Given the description of an element on the screen output the (x, y) to click on. 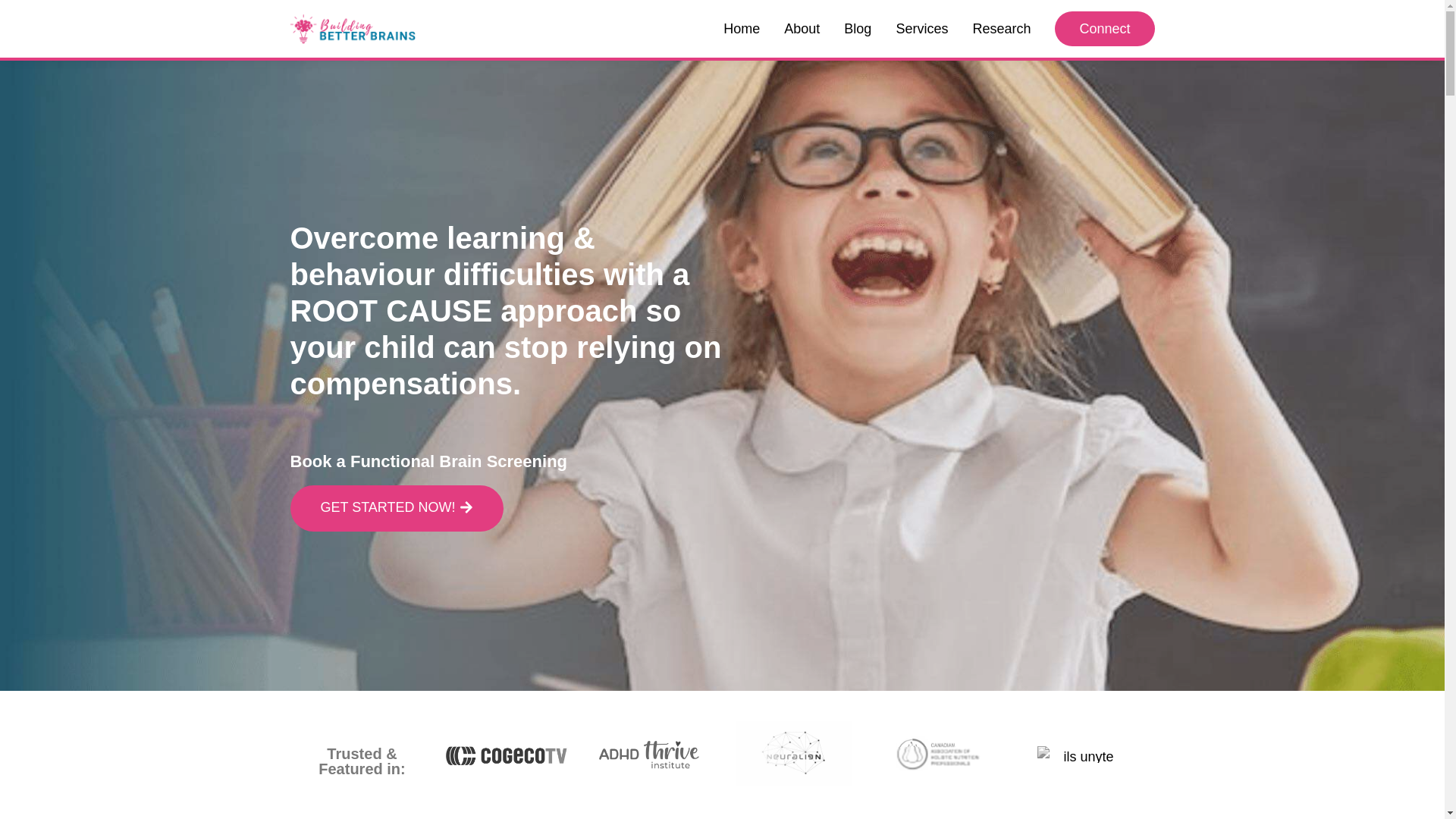
Connect (1104, 28)
GET STARTED NOW! (395, 508)
Homepage (351, 28)
About (801, 28)
Home (741, 28)
Research (1001, 28)
Services (921, 28)
